Given the description of an element on the screen output the (x, y) to click on. 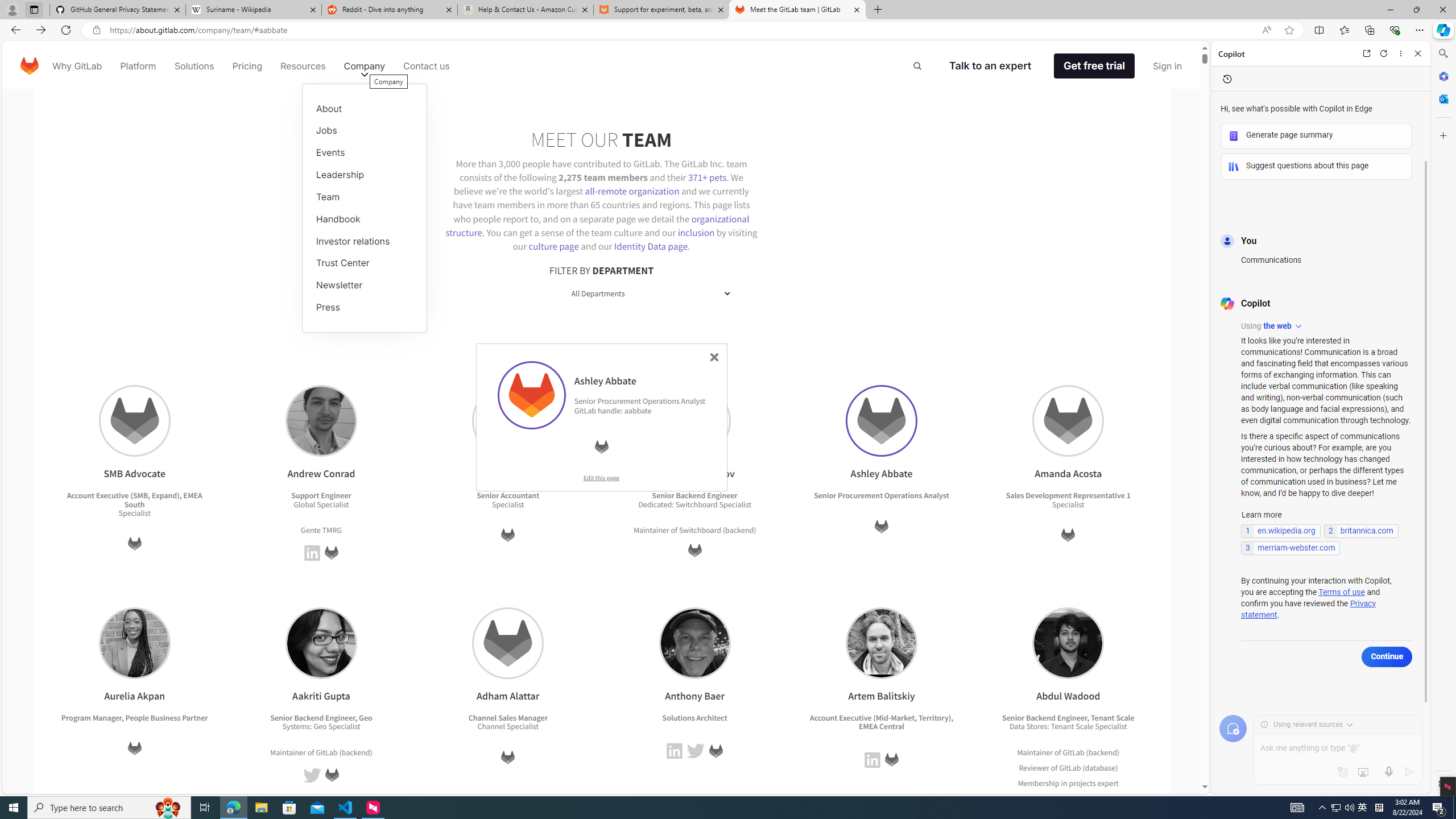
GitLab home page (29, 65)
Ayesha Zubair (507, 420)
AutomationID: team-selector (601, 293)
Andrey Ruzmanov (694, 420)
Artem Balitskiy (881, 642)
Aurelia Akpan (134, 642)
Membership in projects expert (1067, 782)
Gente TMRG (321, 529)
Aakriti Gupta (320, 642)
Meet the GitLab team | GitLab (797, 9)
Account Executive (Mid-Market, Territory), EMEA Central (881, 721)
